Given the description of an element on the screen output the (x, y) to click on. 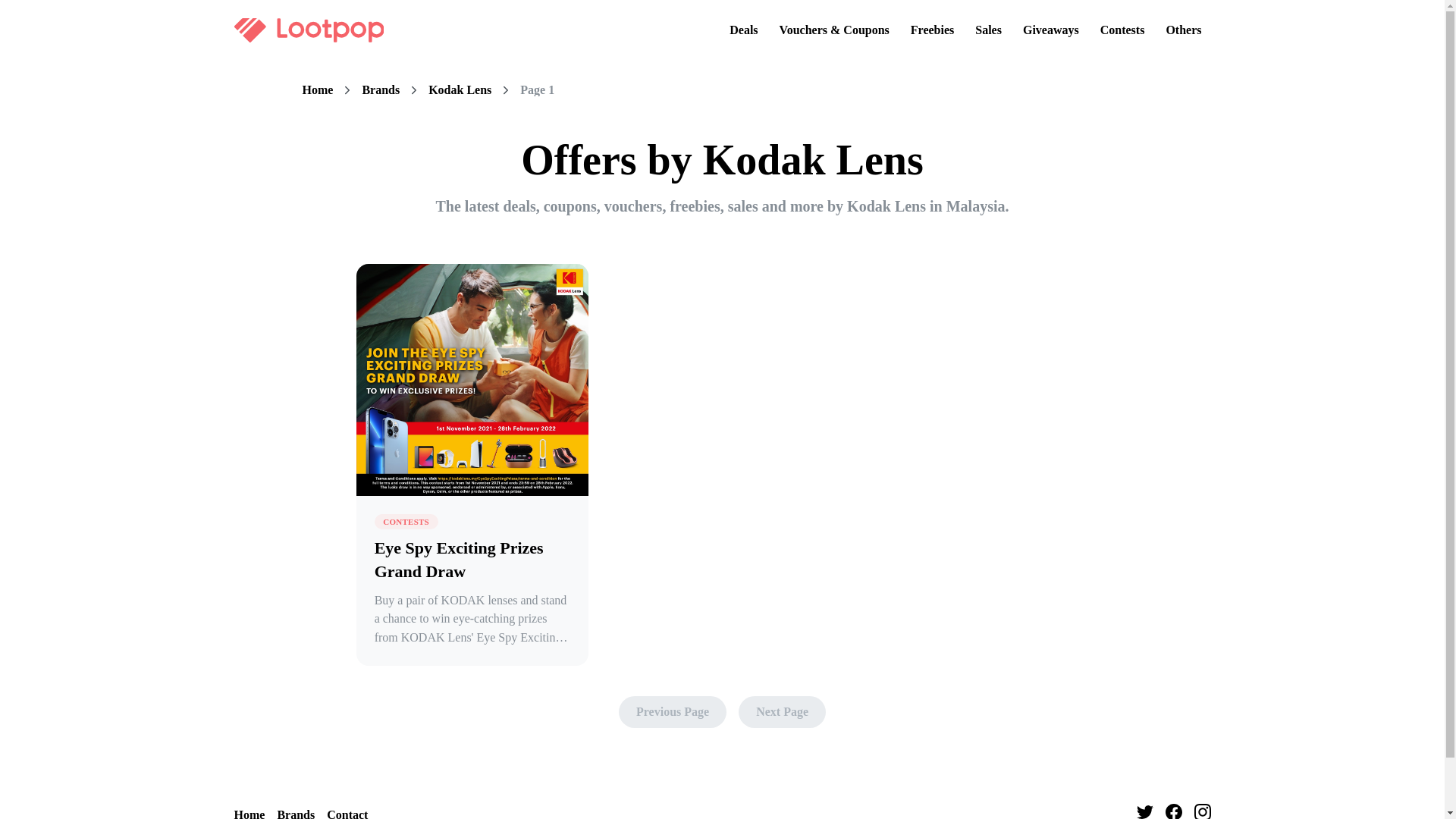
Contests (1122, 30)
Home (317, 90)
Kodak Lens (460, 90)
Brands (379, 90)
Freebies (931, 30)
Next Page (781, 712)
Sales (988, 30)
Contact (347, 812)
Previous Page (672, 712)
Brands (295, 812)
Others (1182, 30)
Deals (743, 30)
Giveaways (1050, 30)
Home (248, 812)
